Given the description of an element on the screen output the (x, y) to click on. 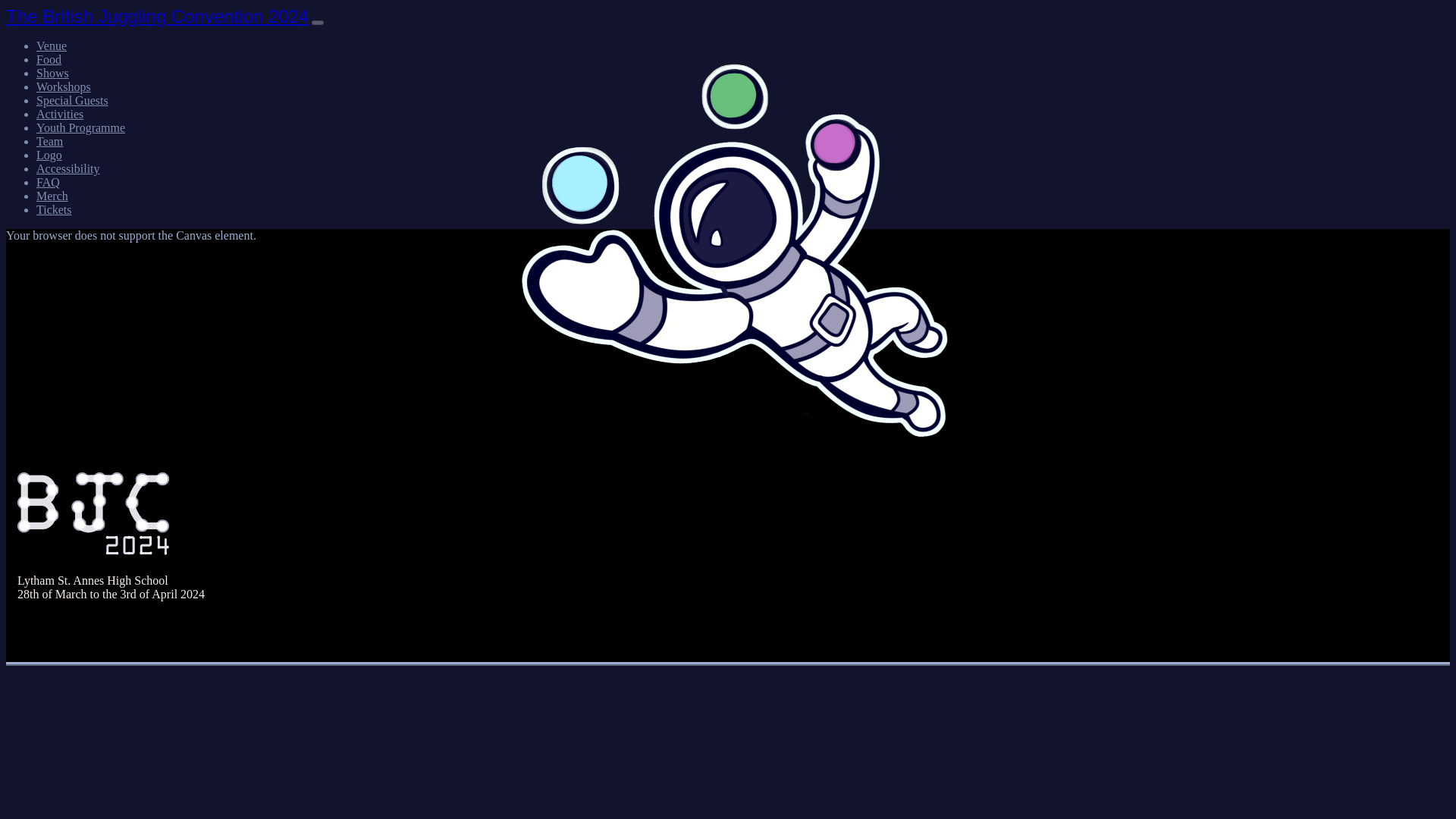
Merch (52, 195)
Activities (59, 113)
Youth Programme (80, 127)
Tickets (53, 209)
Accessibility (68, 168)
The British Juggling Convention 2024 (156, 15)
Team (49, 141)
Venue (51, 45)
Shows (52, 72)
Food (48, 59)
